Given the description of an element on the screen output the (x, y) to click on. 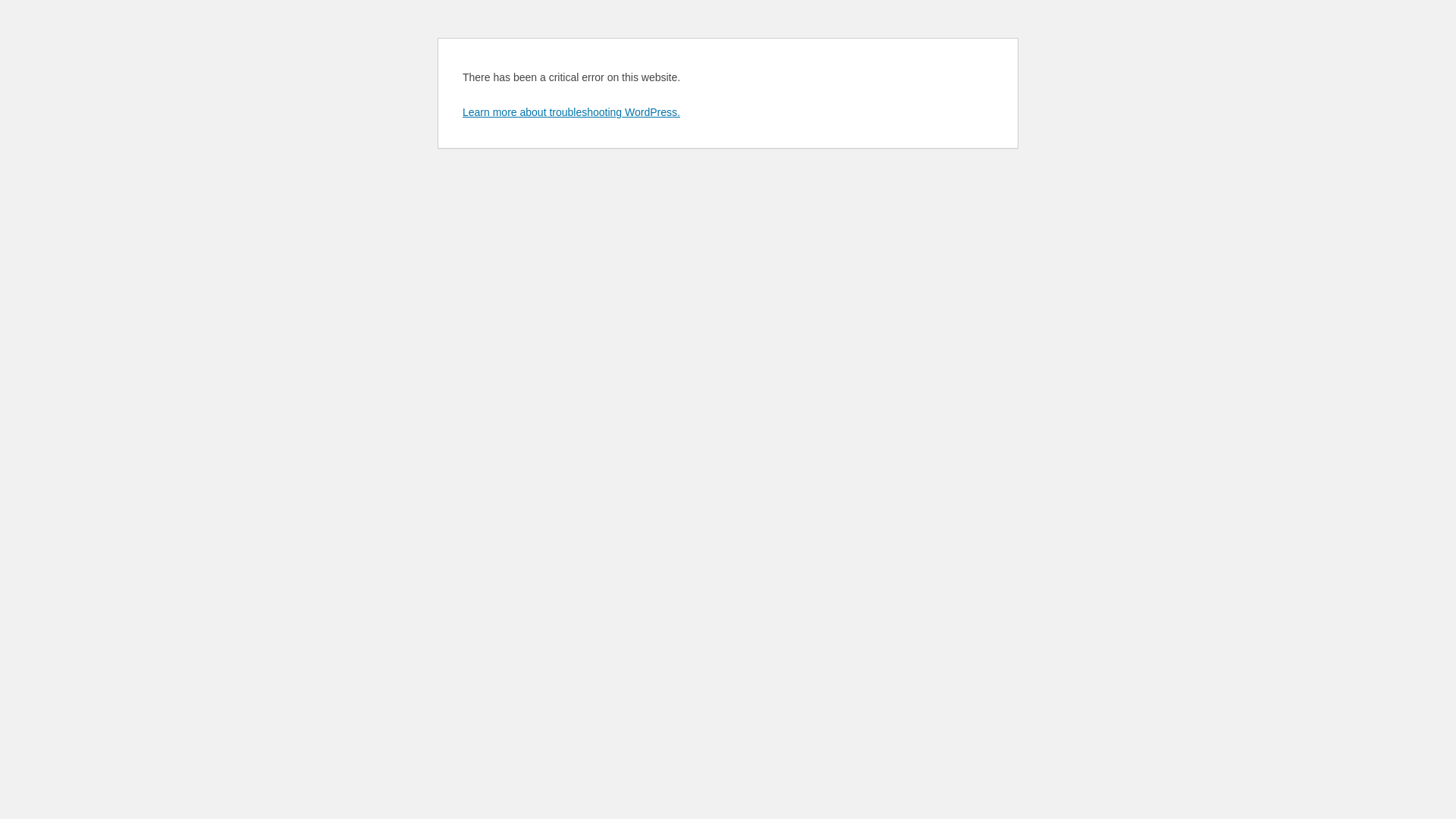
Learn more about troubleshooting WordPress. Element type: text (571, 112)
